Given the description of an element on the screen output the (x, y) to click on. 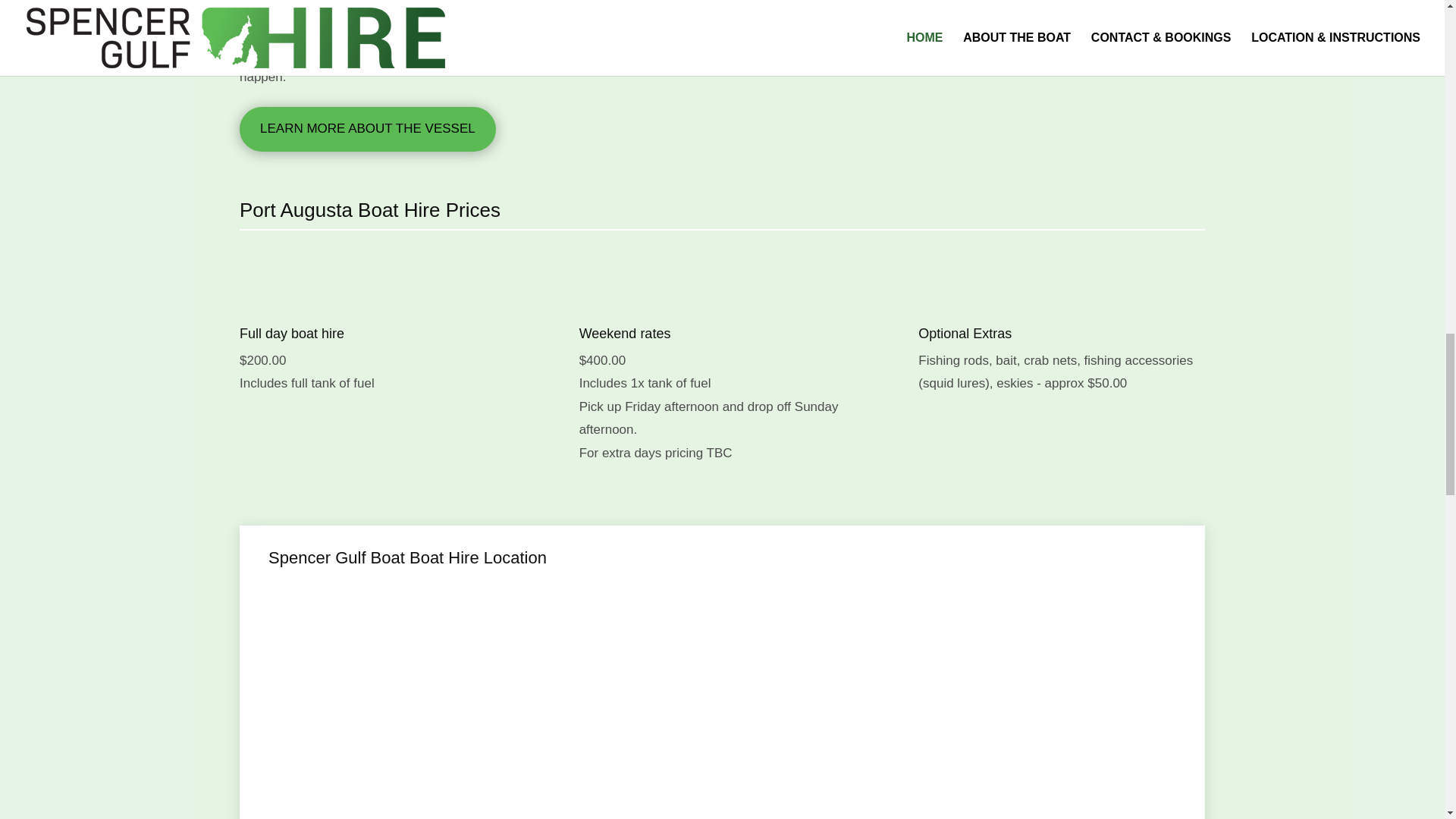
LEARN MORE ABOUT THE VESSEL (368, 129)
